Given the description of an element on the screen output the (x, y) to click on. 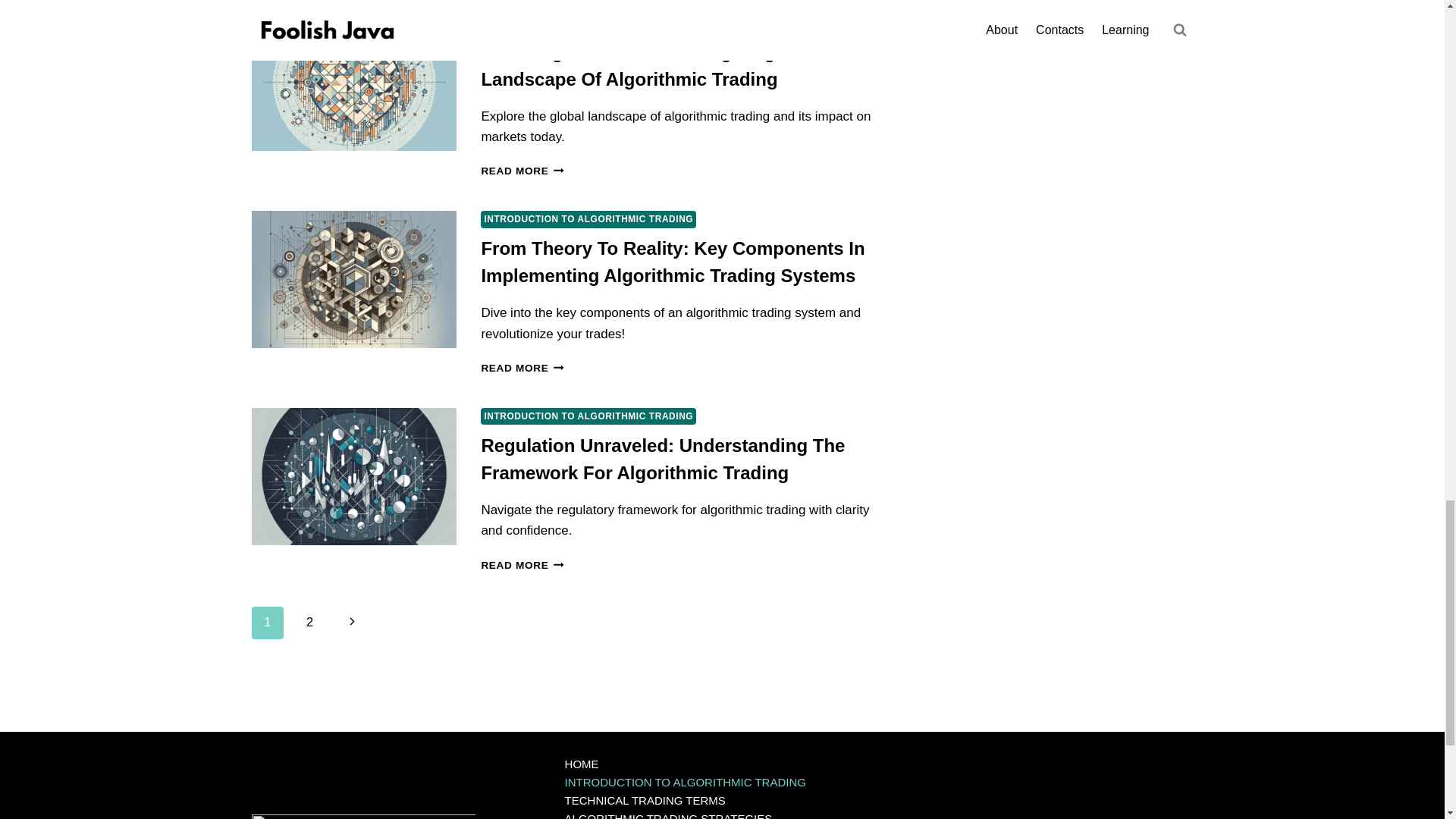
INTRODUCTION TO ALGORITHMIC TRADING (587, 21)
